Given the description of an element on the screen output the (x, y) to click on. 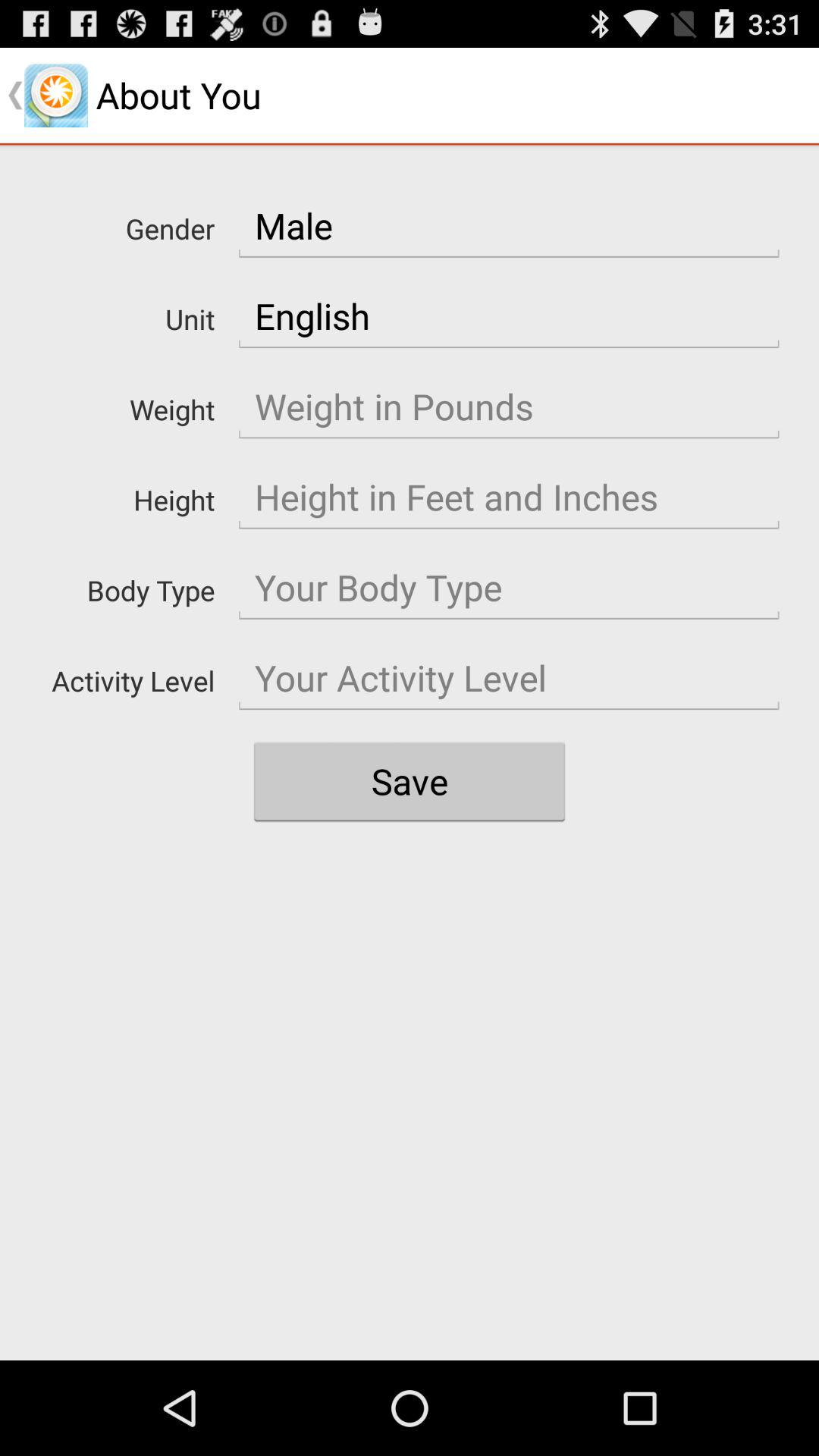
enter height (508, 497)
